Given the description of an element on the screen output the (x, y) to click on. 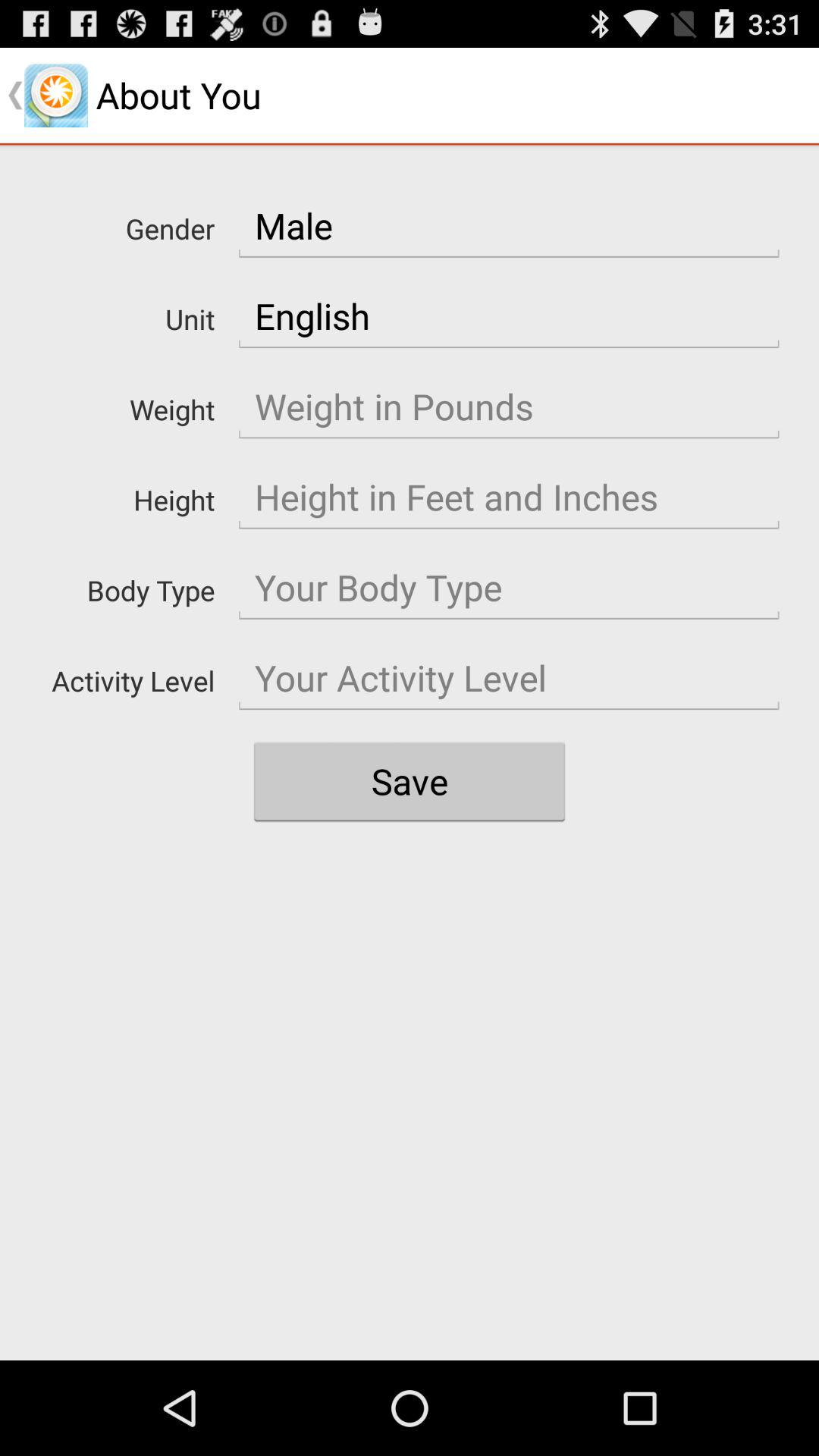
enter height (508, 497)
